Given the description of an element on the screen output the (x, y) to click on. 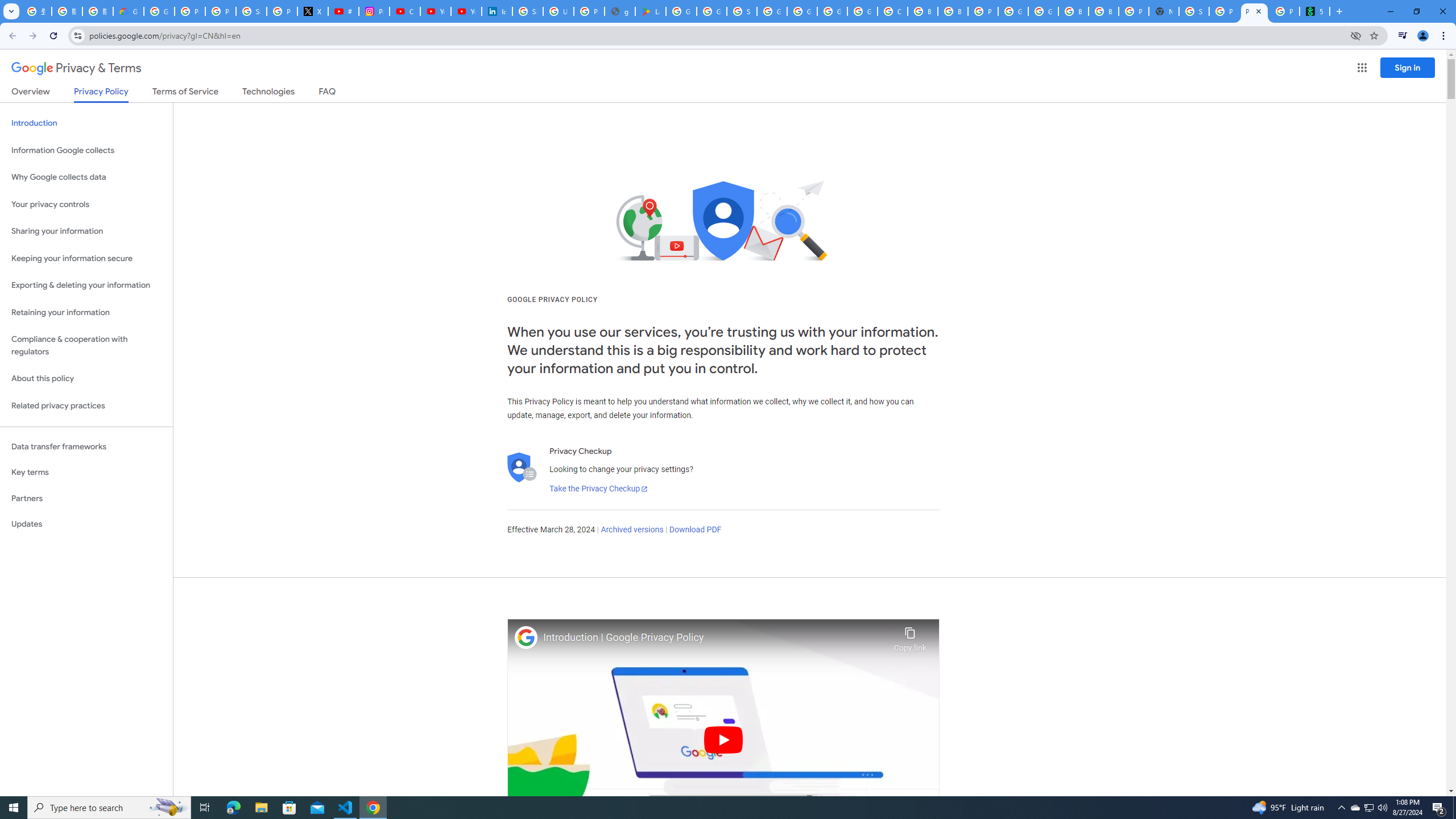
Overview (30, 93)
Download PDF (695, 529)
X (312, 11)
New Tab (1163, 11)
Photo image of Google (526, 636)
About this policy (86, 379)
Terms of Service (184, 93)
Partners (86, 497)
Compliance & cooperation with regulators (86, 345)
Google Cloud Platform (1042, 11)
